Given the description of an element on the screen output the (x, y) to click on. 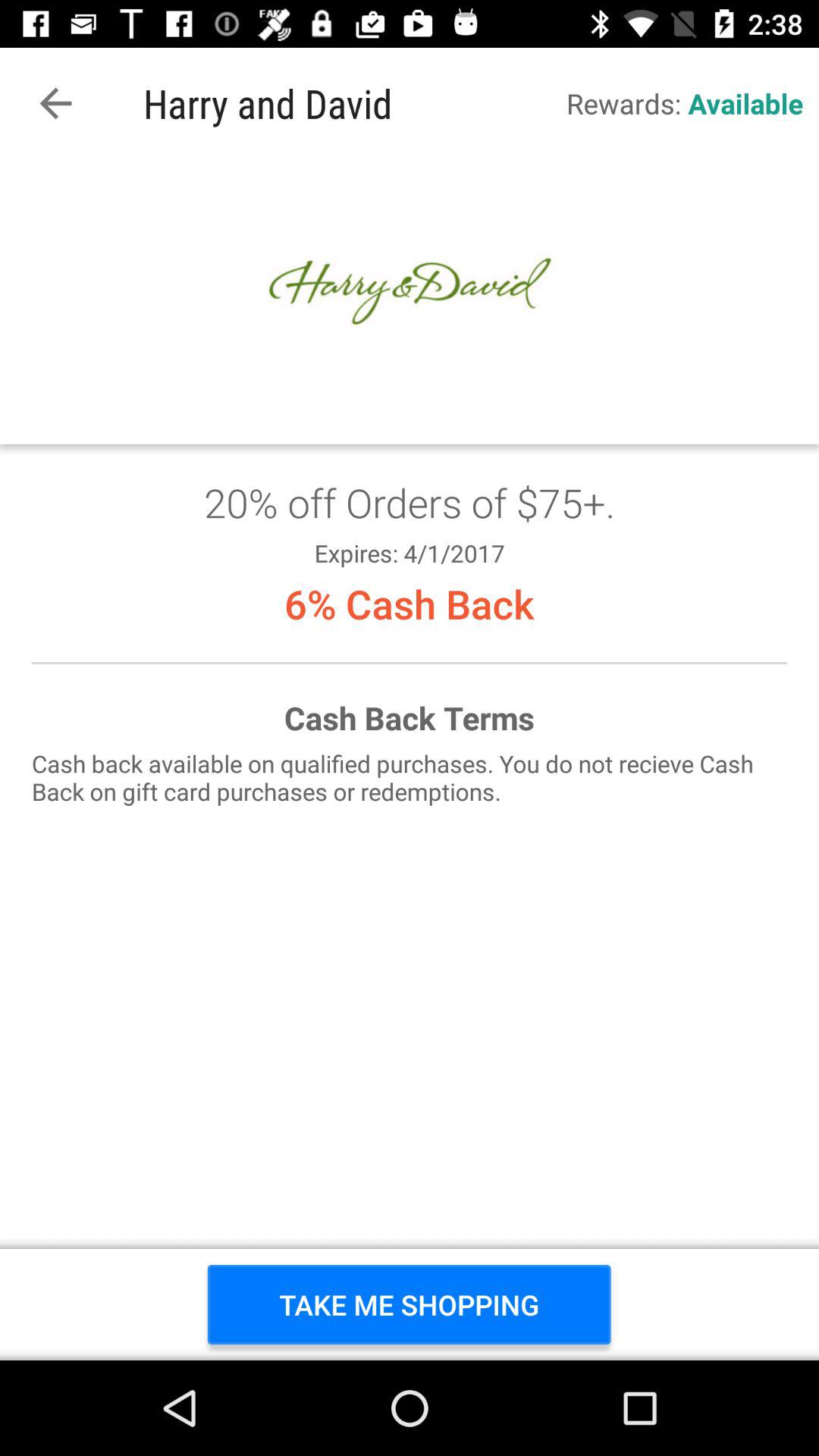
jump to the take me shopping icon (408, 1304)
